Given the description of an element on the screen output the (x, y) to click on. 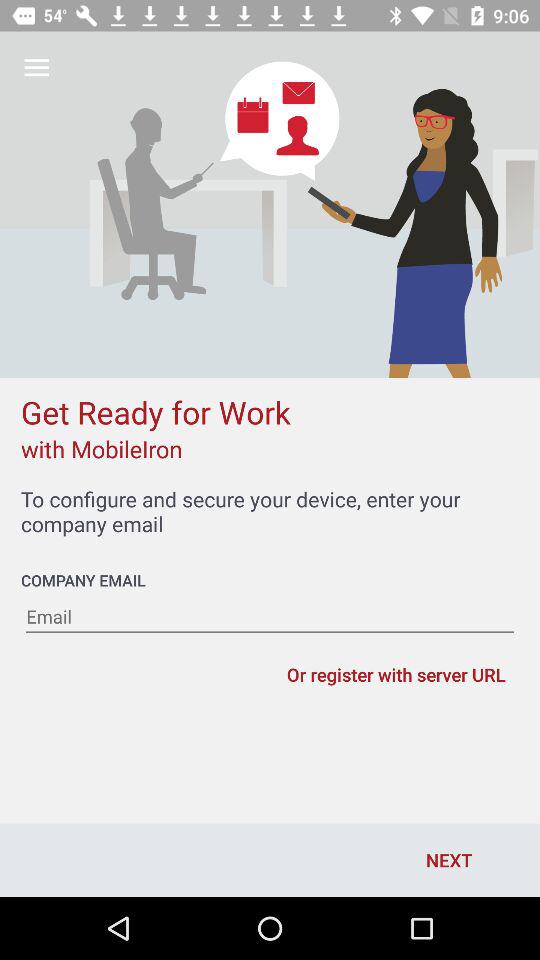
enter your email (270, 617)
